Given the description of an element on the screen output the (x, y) to click on. 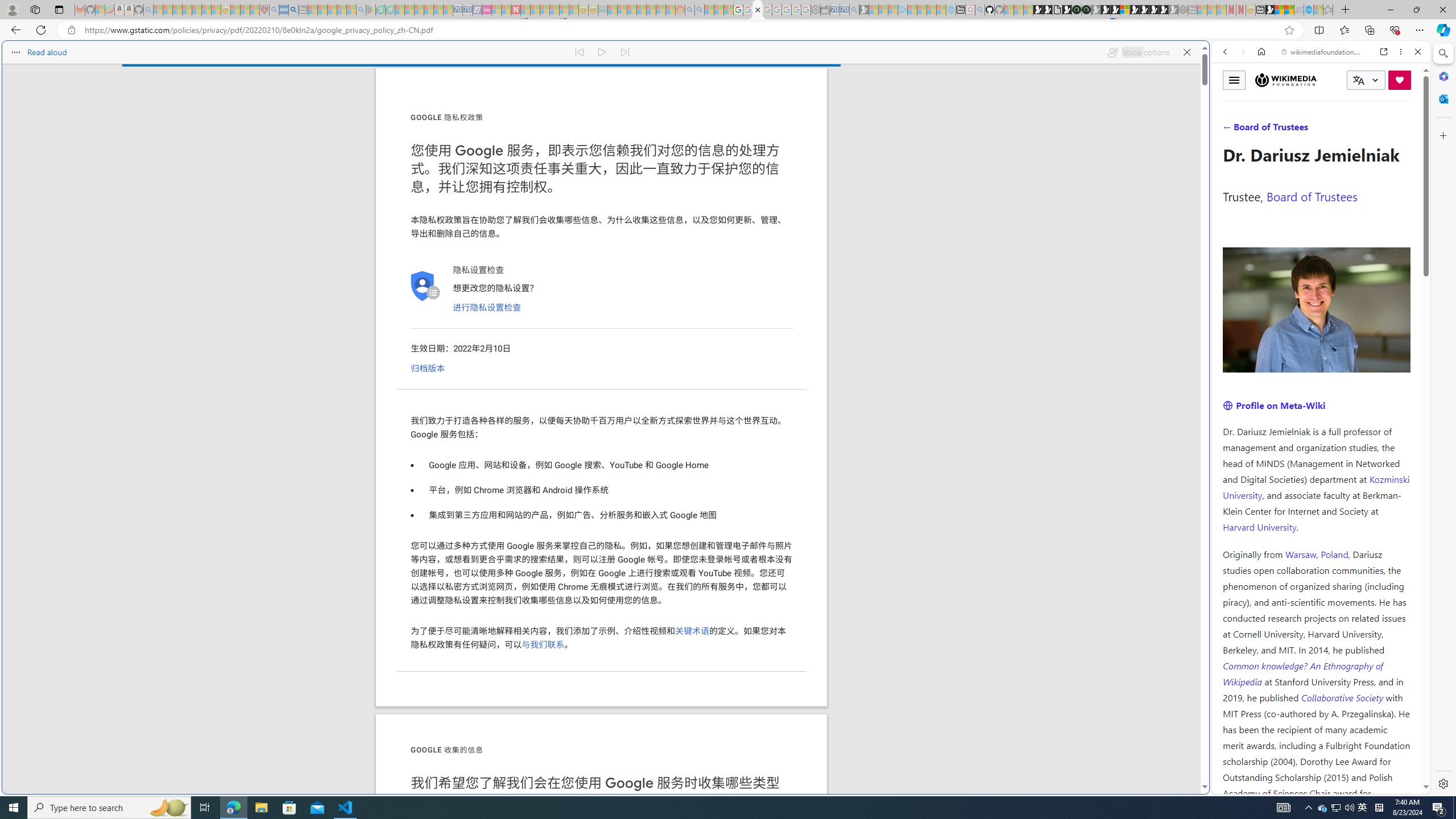
Expert Portfolios - Sleeping (640, 9)
Wikimedia Foundation (1286, 79)
github - Search - Sleeping (979, 9)
Actions for this site (1370, 583)
Profile on Meta-Wiki (1273, 405)
